Given the description of an element on the screen output the (x, y) to click on. 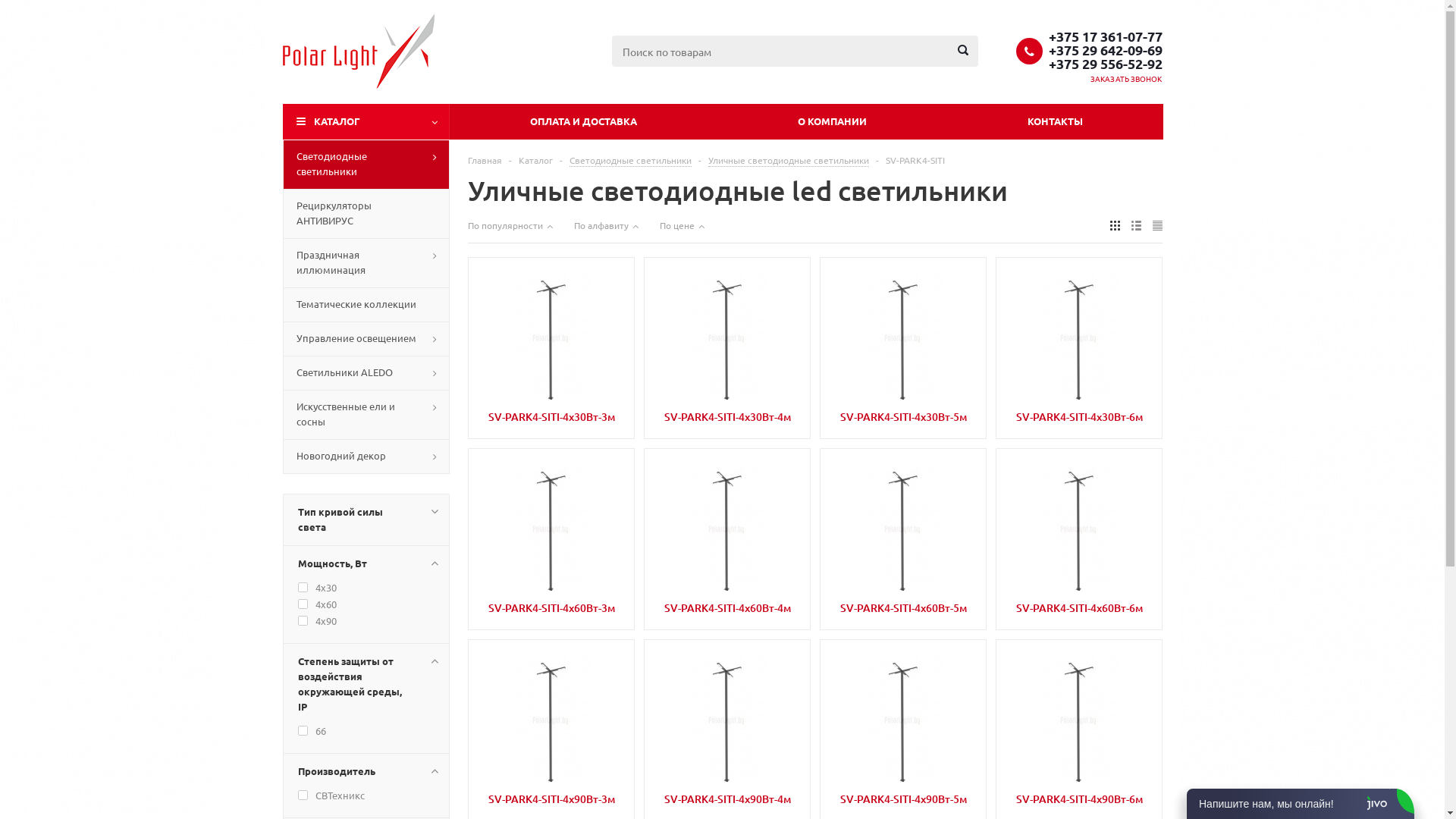
+375 29 642-09-69 Element type: text (1104, 49)
+375 29 556-52-92 Element type: text (1104, 62)
Y Element type: text (4, 4)
+375 17 361-07-77 Element type: text (1104, 35)
